Given the description of an element on the screen output the (x, y) to click on. 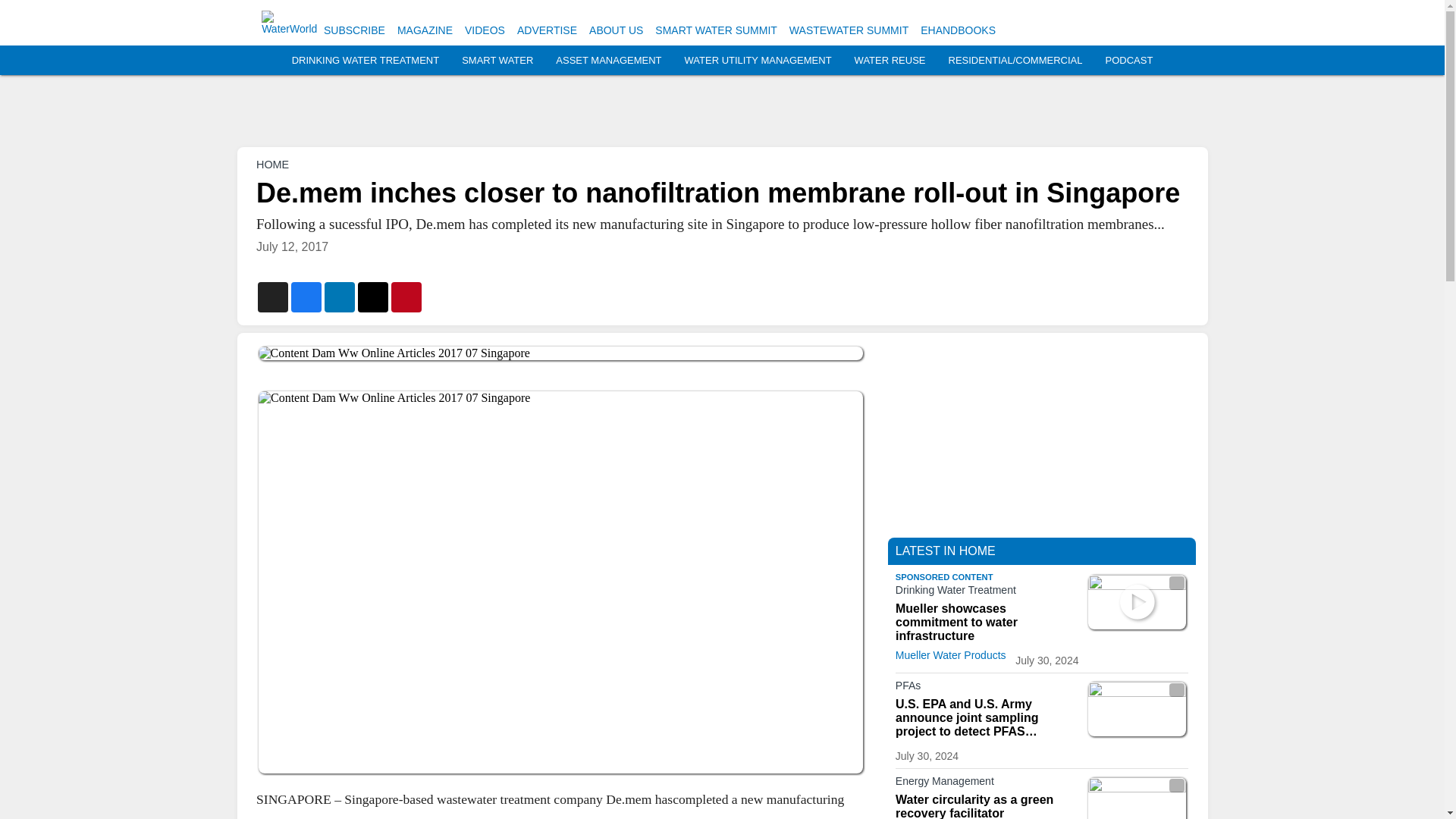
WATER UTILITY MANAGEMENT (757, 60)
HOME (272, 164)
ABOUT US (616, 30)
WATER REUSE (890, 60)
SMART WATER SUMMIT (715, 30)
EHANDBOOKS (957, 30)
PODCAST (1129, 60)
ASSET MANAGEMENT (608, 60)
DRINKING WATER TREATMENT (365, 60)
MAGAZINE (424, 30)
Content Dam Ww Online Articles 2017 07 Singapore (559, 353)
VIDEOS (484, 30)
ADVERTISE (546, 30)
WASTEWATER SUMMIT (848, 30)
